Given the description of an element on the screen output the (x, y) to click on. 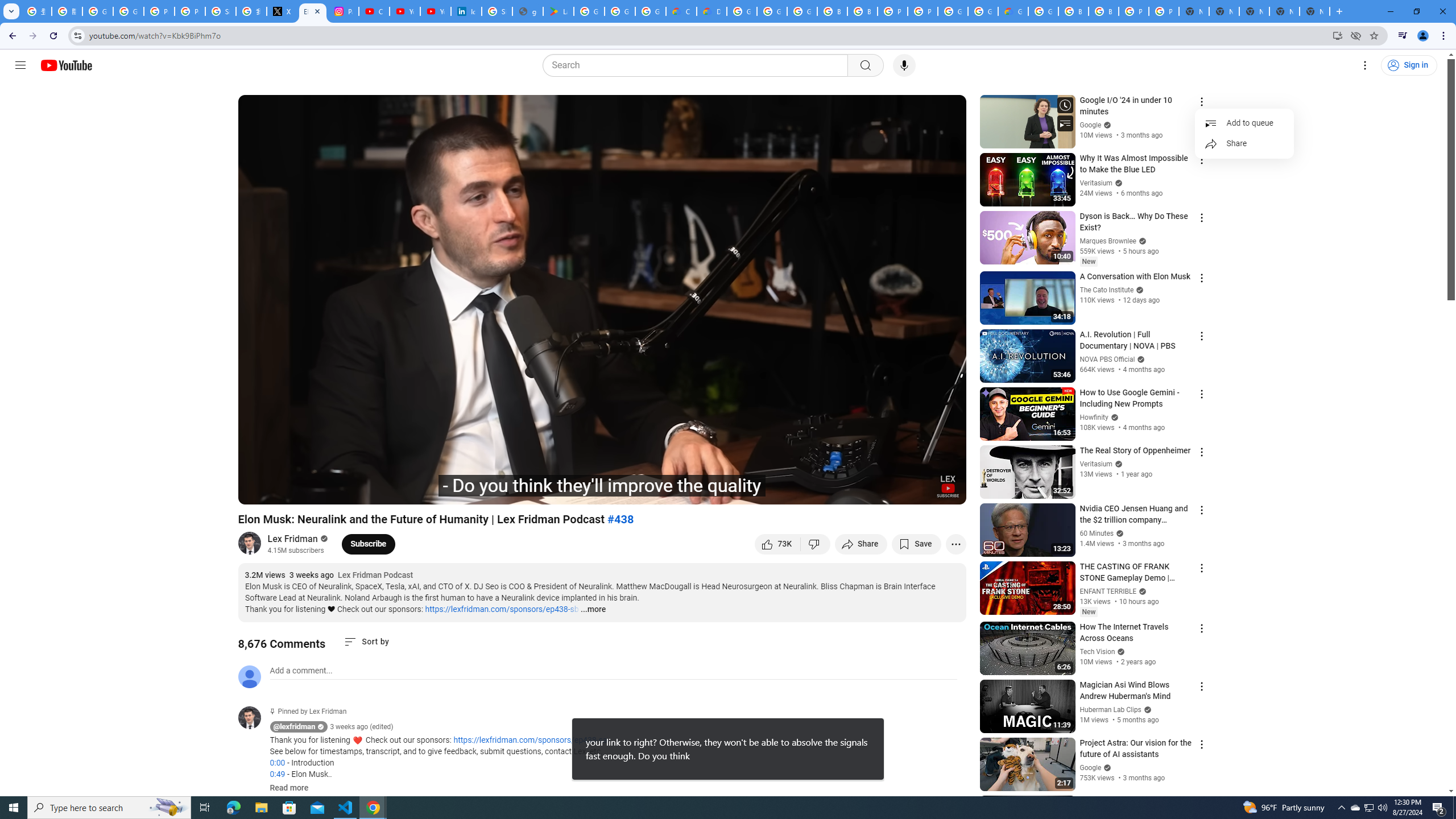
Telepathy (402, 490)
https://lexfridman.com/sponsors/ep438-sa (529, 740)
Play (k) (257, 490)
New Tab (1314, 11)
Theater mode (t) (917, 490)
Google Cloud Estimate Summary (1012, 11)
Share (861, 543)
...more (592, 609)
Search with your voice (903, 65)
Verified (1106, 767)
Privacy Help Center - Policies Help (158, 11)
Privacy Help Center - Policies Help (189, 11)
